Given the description of an element on the screen output the (x, y) to click on. 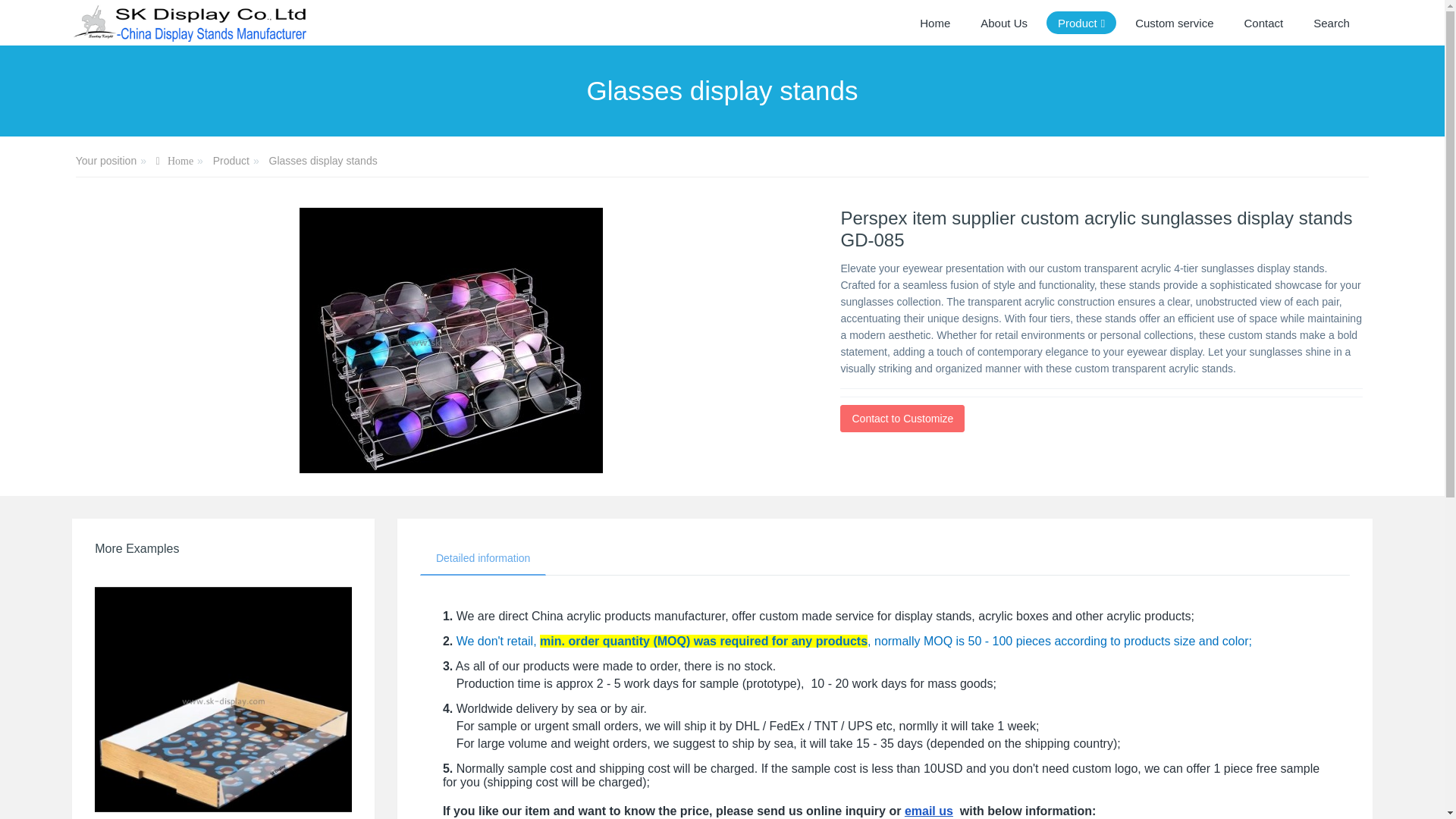
Glasses display stands (323, 160)
SK Display Co.,Ltd (189, 22)
Product (230, 160)
About Us (1004, 22)
Product (1081, 22)
Product (1081, 22)
Contact (1264, 22)
email us (928, 810)
Home (174, 161)
Search (1331, 22)
